Given the description of an element on the screen output the (x, y) to click on. 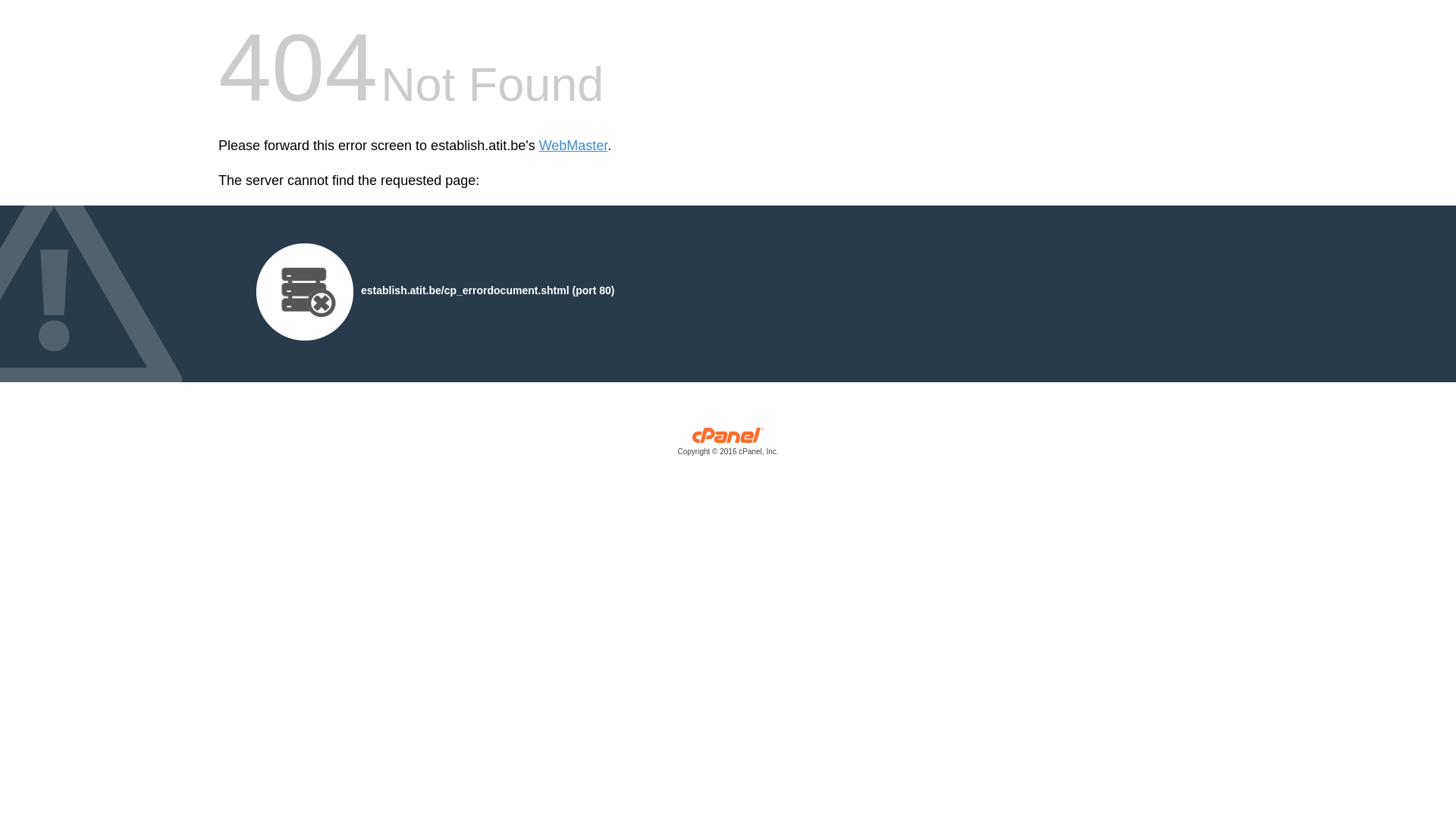
WebMaster Element type: text (573, 145)
